Given the description of an element on the screen output the (x, y) to click on. 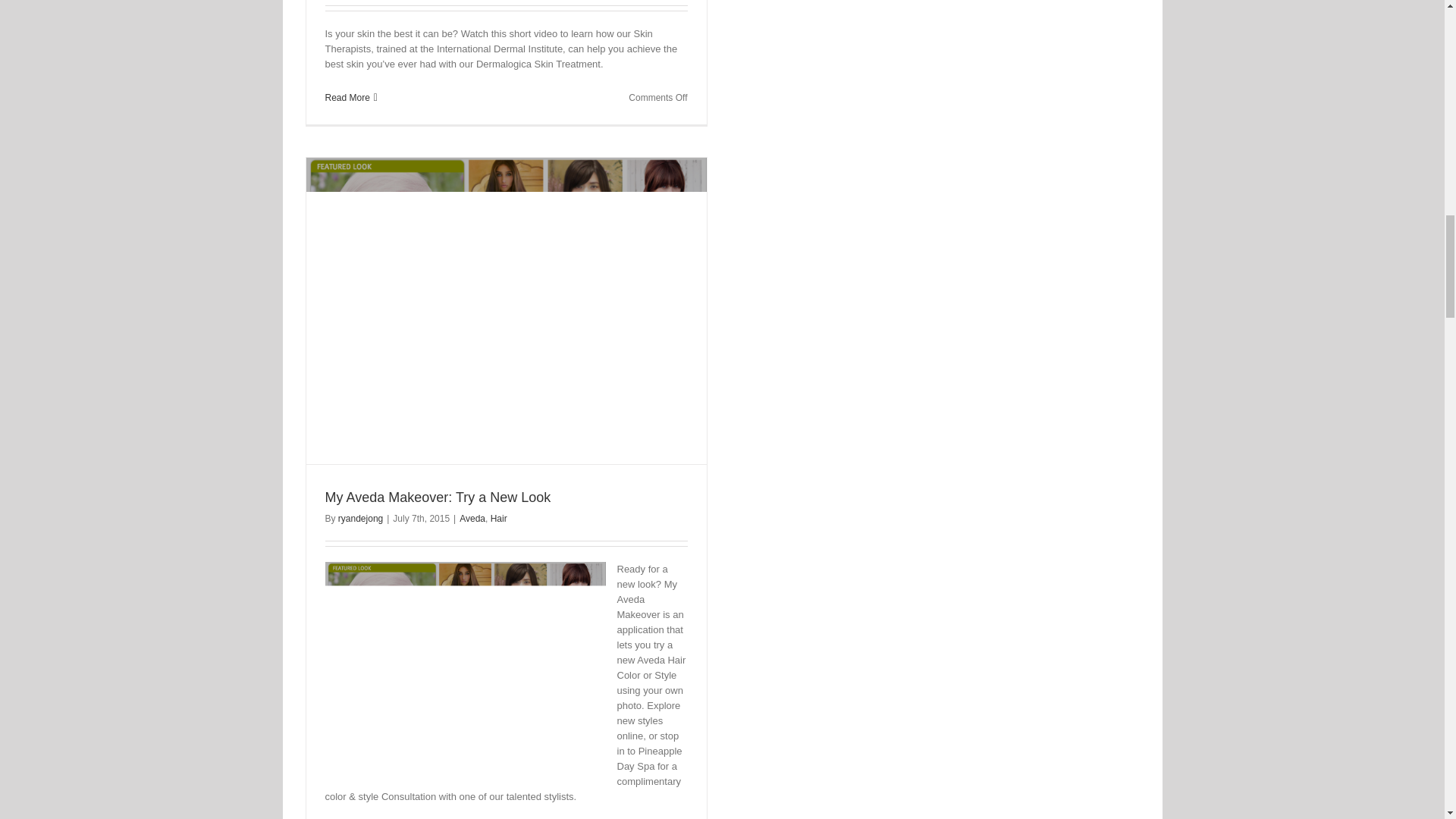
Posts by ryandejong (359, 518)
